Given the description of an element on the screen output the (x, y) to click on. 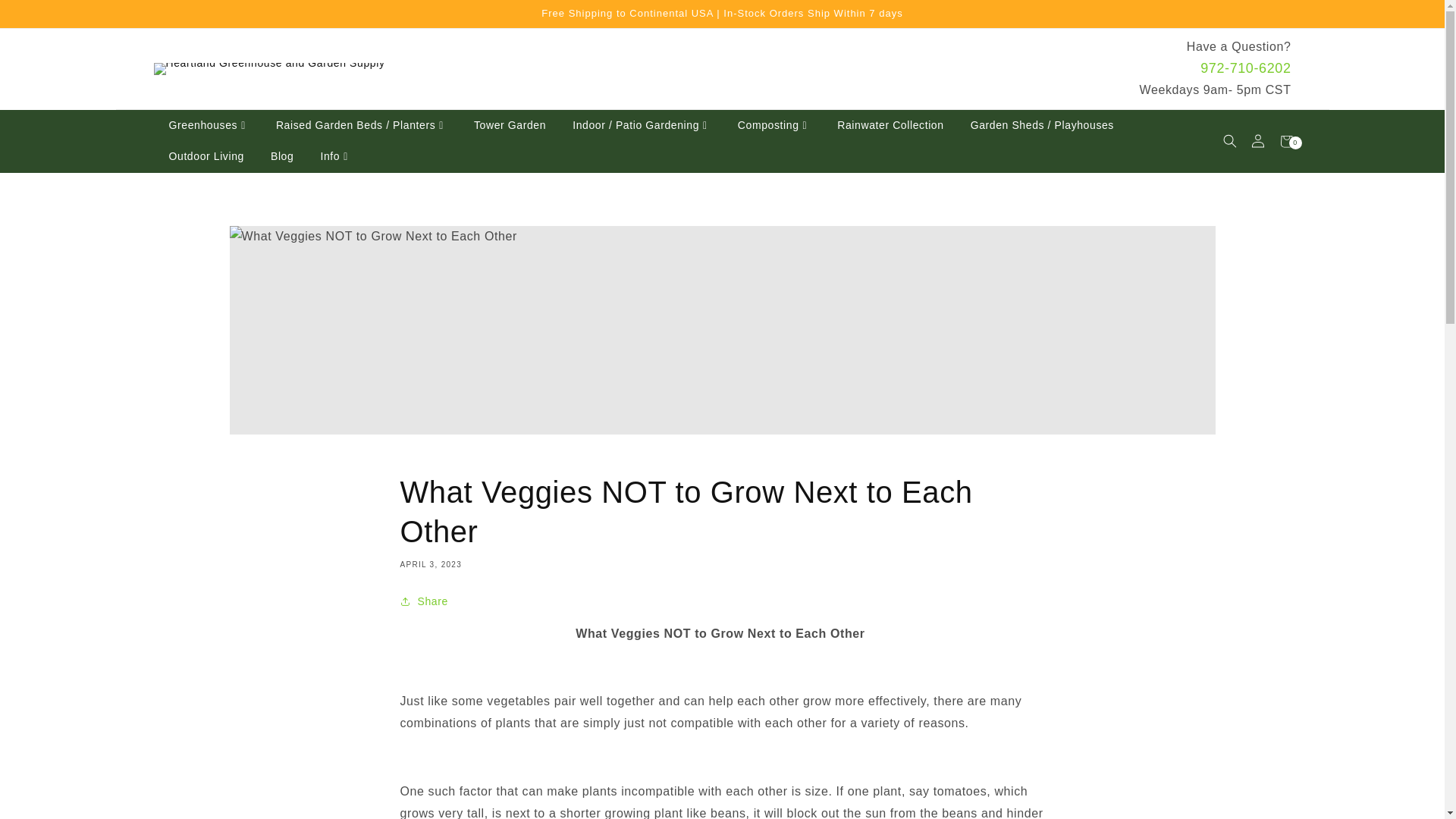
Skip to content (45, 16)
